Given the description of an element on the screen output the (x, y) to click on. 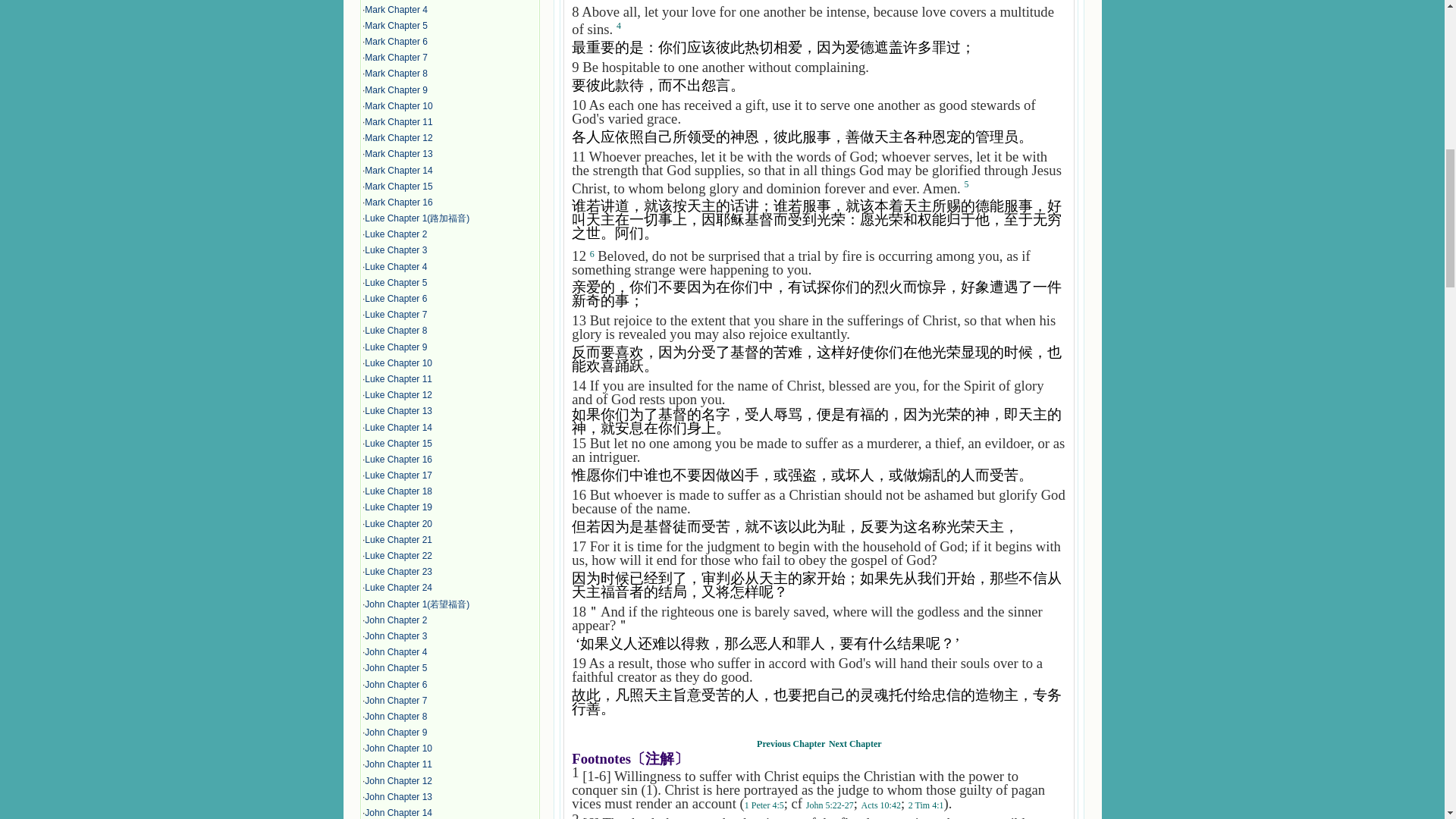
Mark Chapter 4 (396, 9)
Mark Chapter 5 (396, 25)
Mark Chapter 7 (396, 57)
Mark Chapter 6 (396, 41)
Mark Chapter 8 (396, 72)
Mark Chapter 10 (398, 105)
Mark Chapter 9 (396, 90)
